Given the description of an element on the screen output the (x, y) to click on. 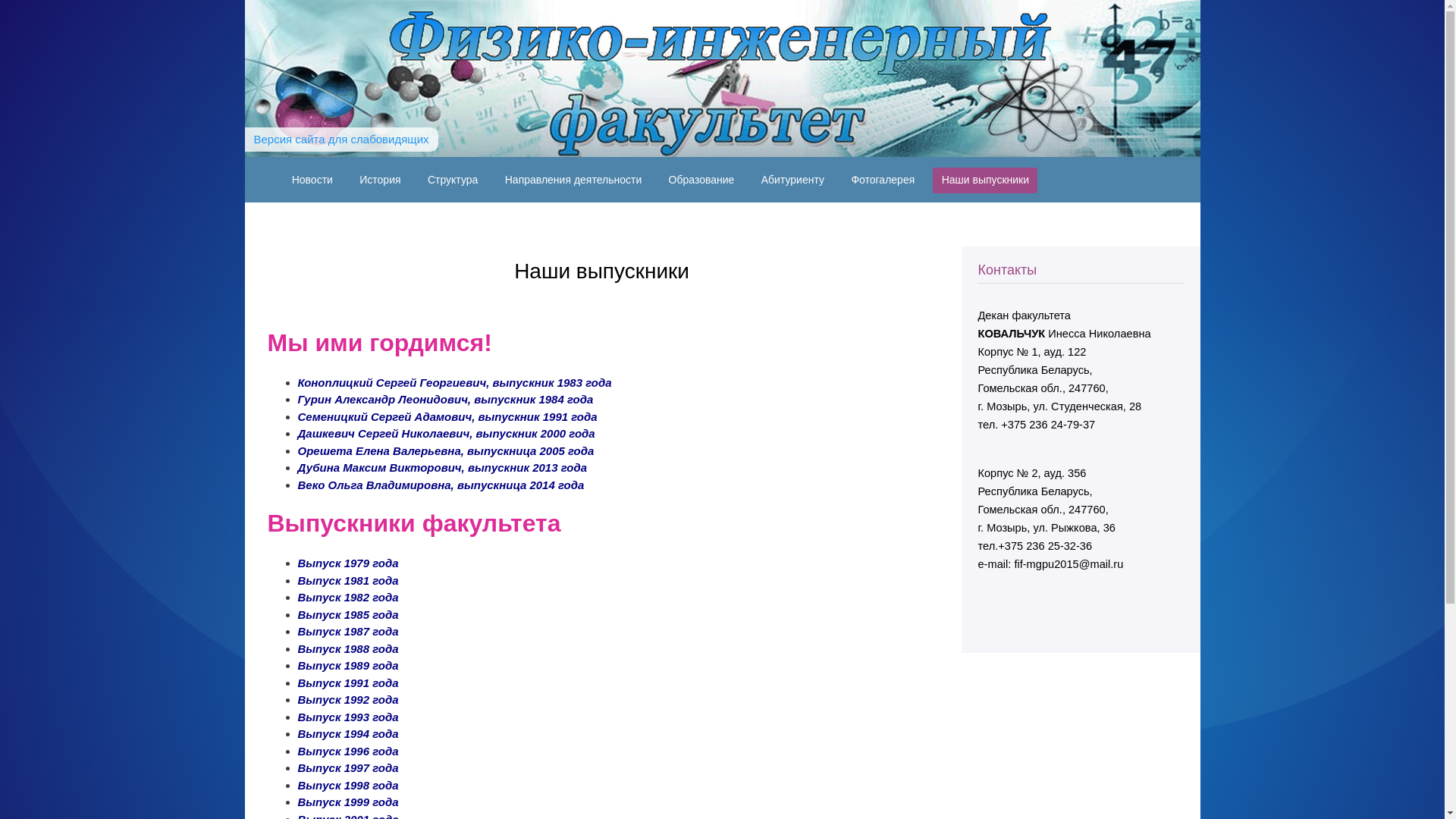
+375 236 24-79-37 Element type: text (1048, 424)
+375 236 25-32-36 Element type: text (1044, 545)
fif-mgpu2015@mail.ru Element type: text (1068, 564)
